Given the description of an element on the screen output the (x, y) to click on. 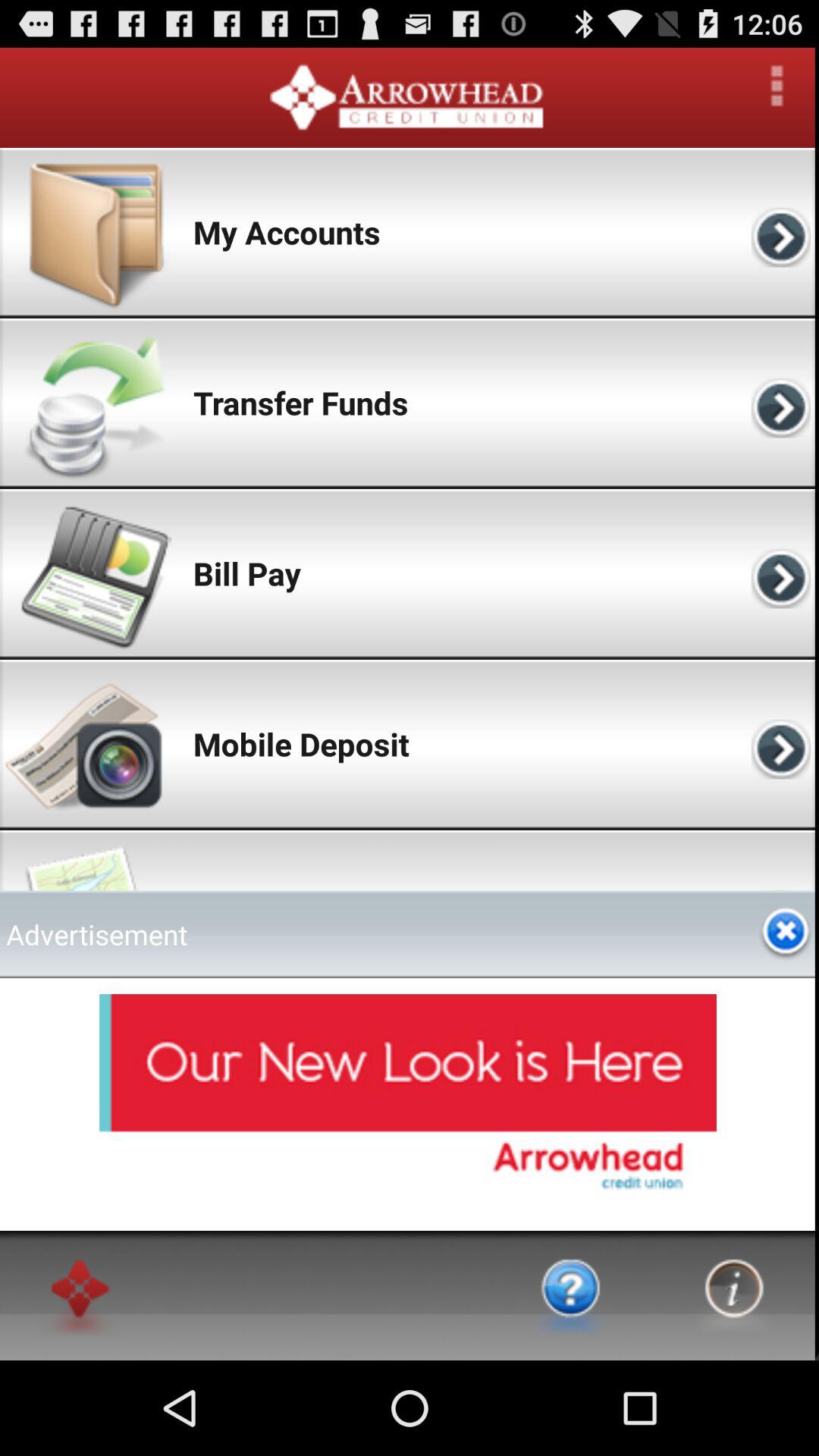
get more details (776, 85)
